Given the description of an element on the screen output the (x, y) to click on. 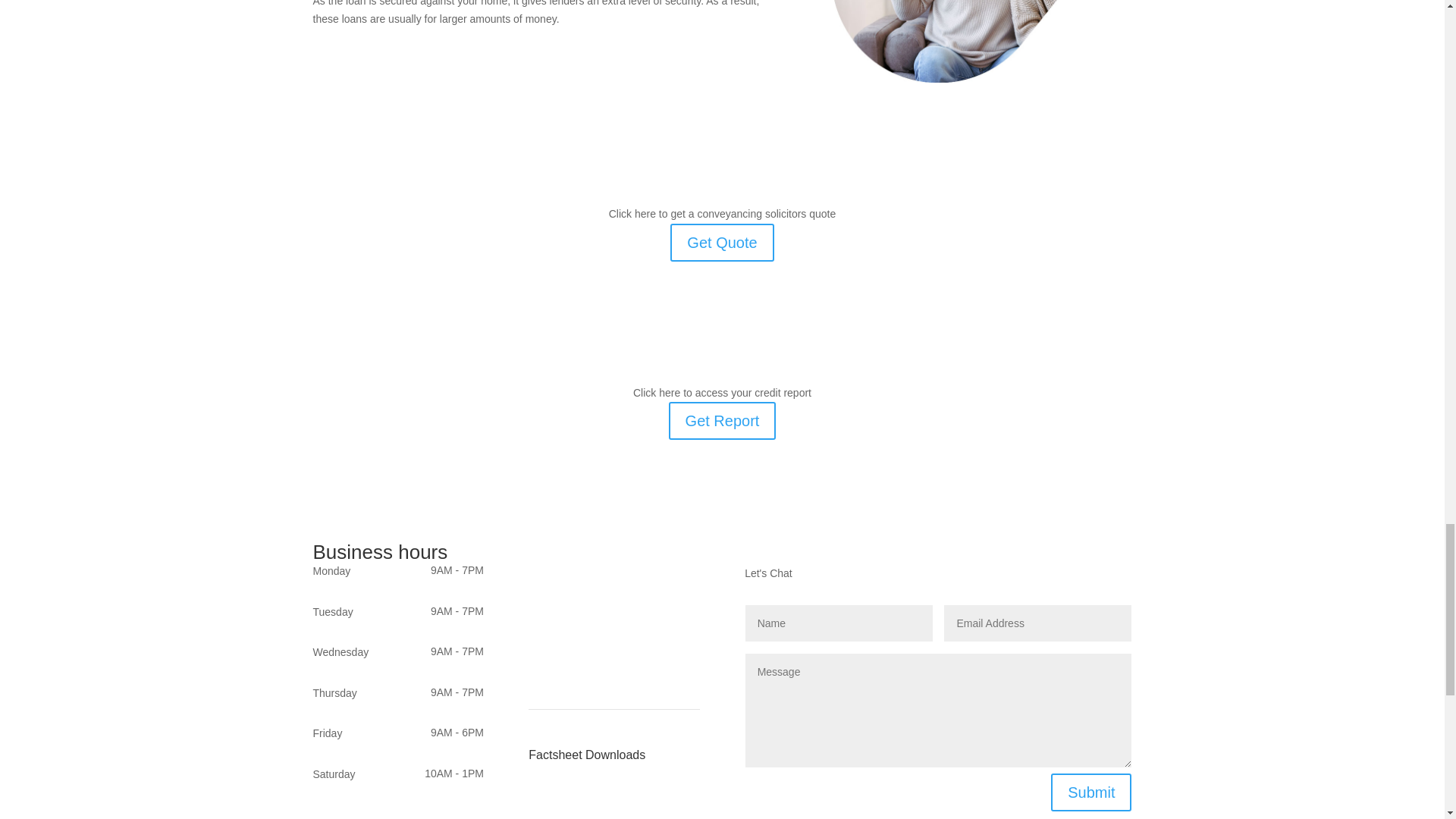
Follow on Facebook (324, 812)
Get Quote (721, 242)
Insurance (551, 586)
WHAT CAN THESE LOANS BE USED FOR (981, 41)
Home (542, 550)
Get Report (722, 420)
Follow on Instagram (354, 812)
Follow on LinkedIn (384, 812)
Mortgages (553, 568)
